Given the description of an element on the screen output the (x, y) to click on. 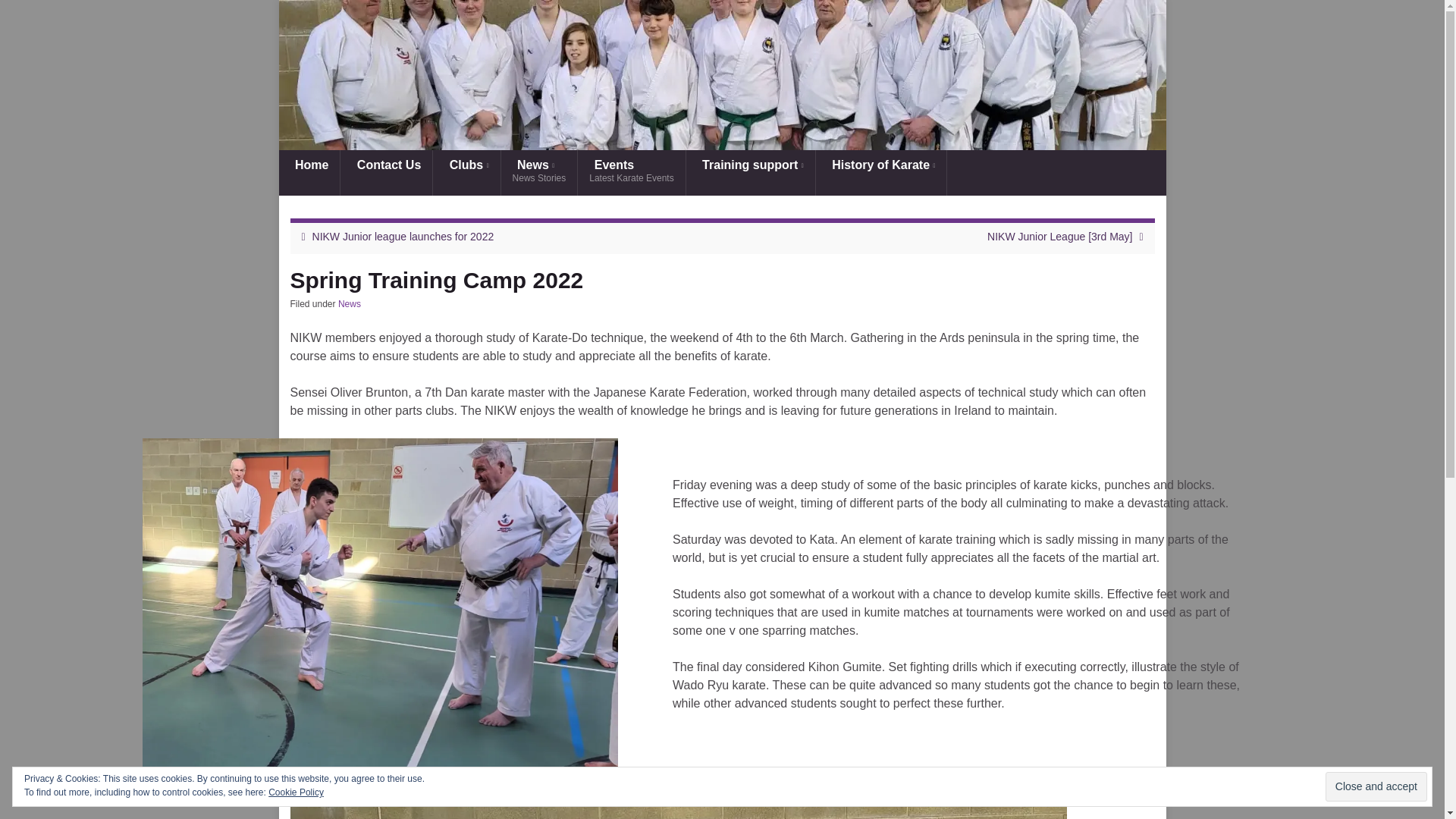
NIKW Junior league launches for 2022 (404, 236)
NIKW Spring Camp 2022 (722, 74)
Close and accept (631, 172)
History of Karate (1375, 786)
Training support (539, 172)
Clubs (881, 172)
News (750, 172)
Home (465, 172)
Contact Us (349, 303)
